Given the description of an element on the screen output the (x, y) to click on. 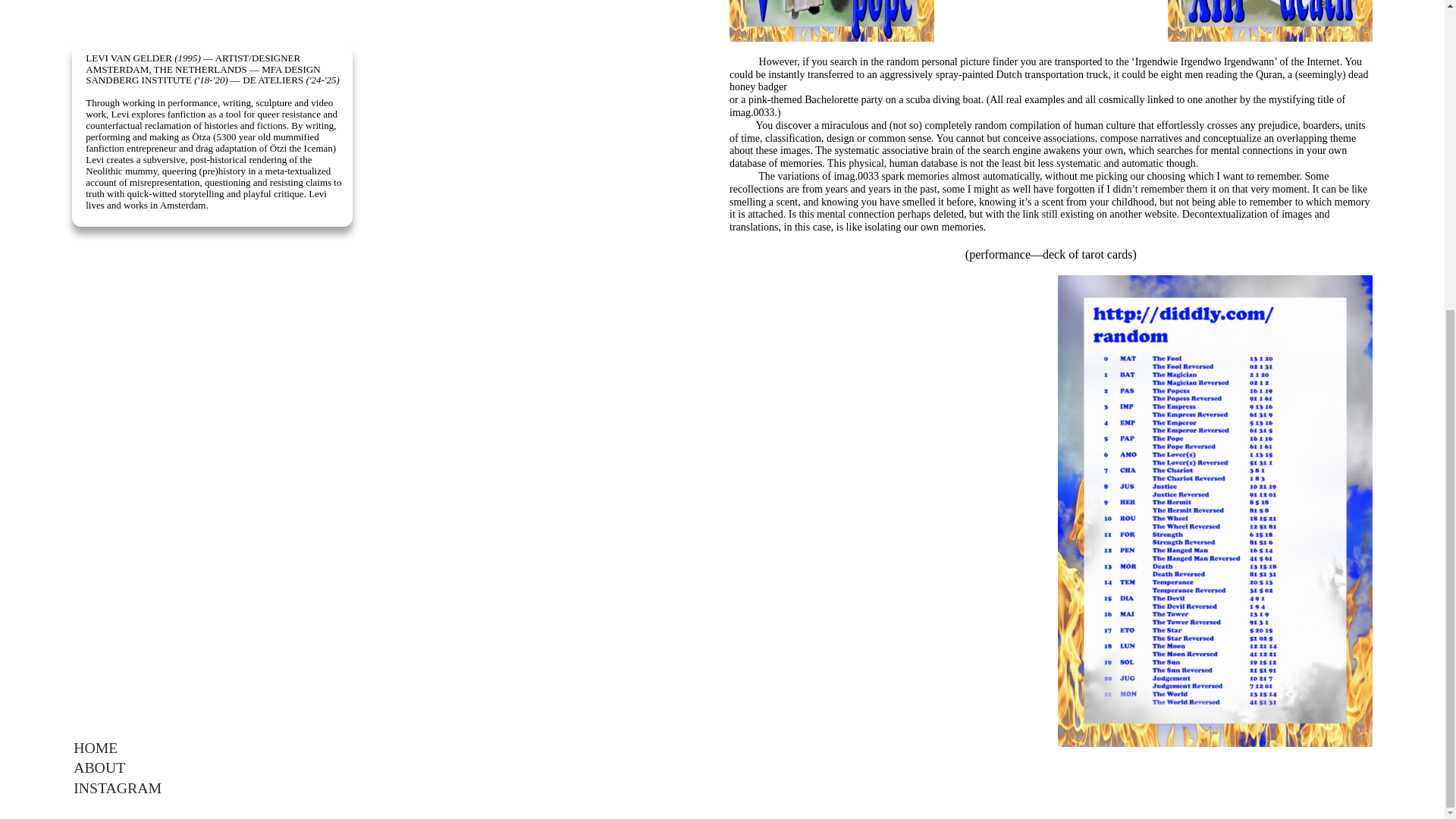
INSTAGRAM (117, 295)
HOME (95, 255)
ABOUT (99, 274)
